Given the description of an element on the screen output the (x, y) to click on. 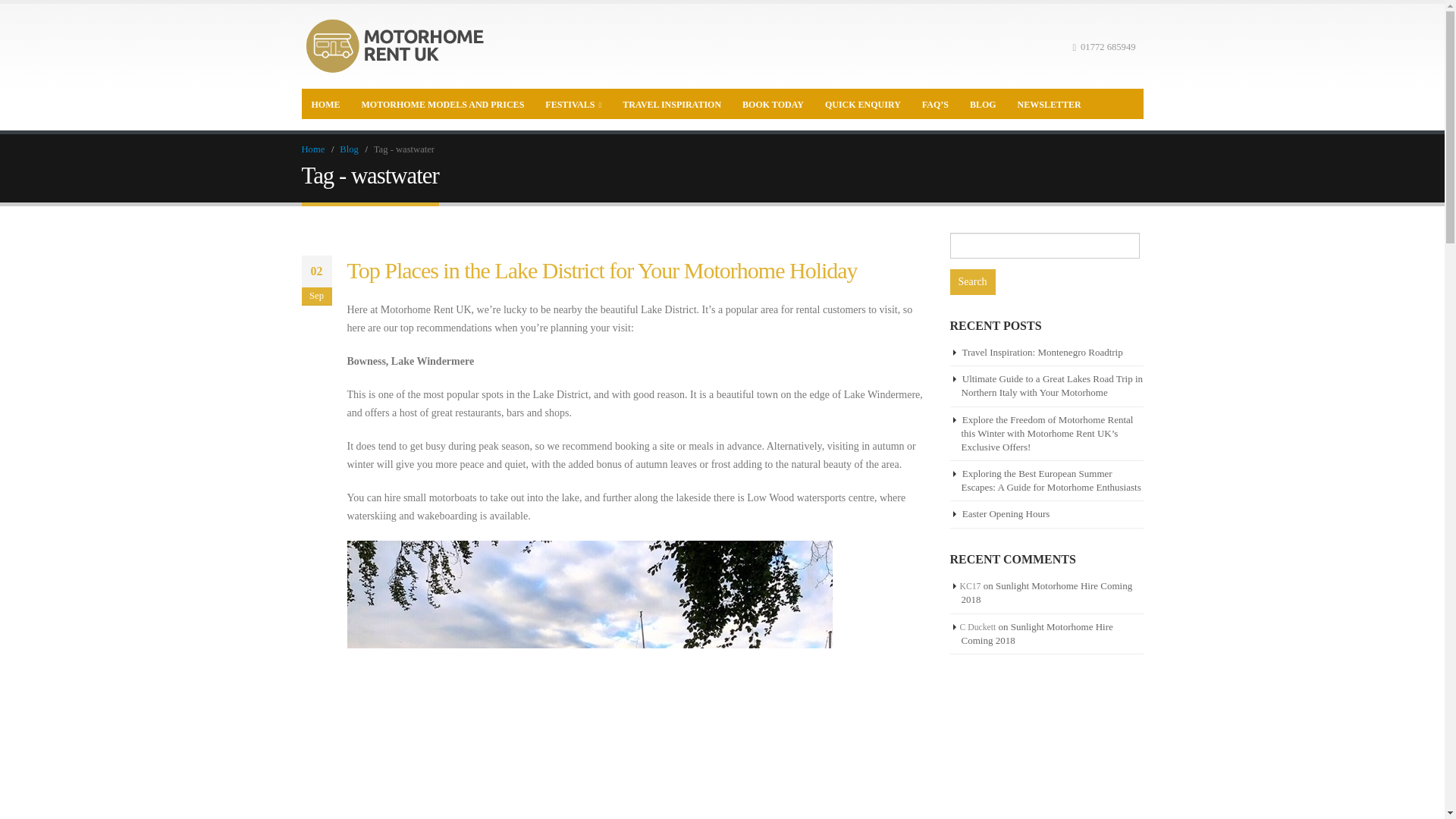
Easter Opening Hours (1005, 513)
NEWSLETTER (1048, 103)
Search (971, 281)
Sunlight Motorhome Hire Coming 2018 (1046, 592)
Home (312, 149)
HOME (325, 103)
FESTIVALS (573, 103)
Search (971, 281)
